Given the description of an element on the screen output the (x, y) to click on. 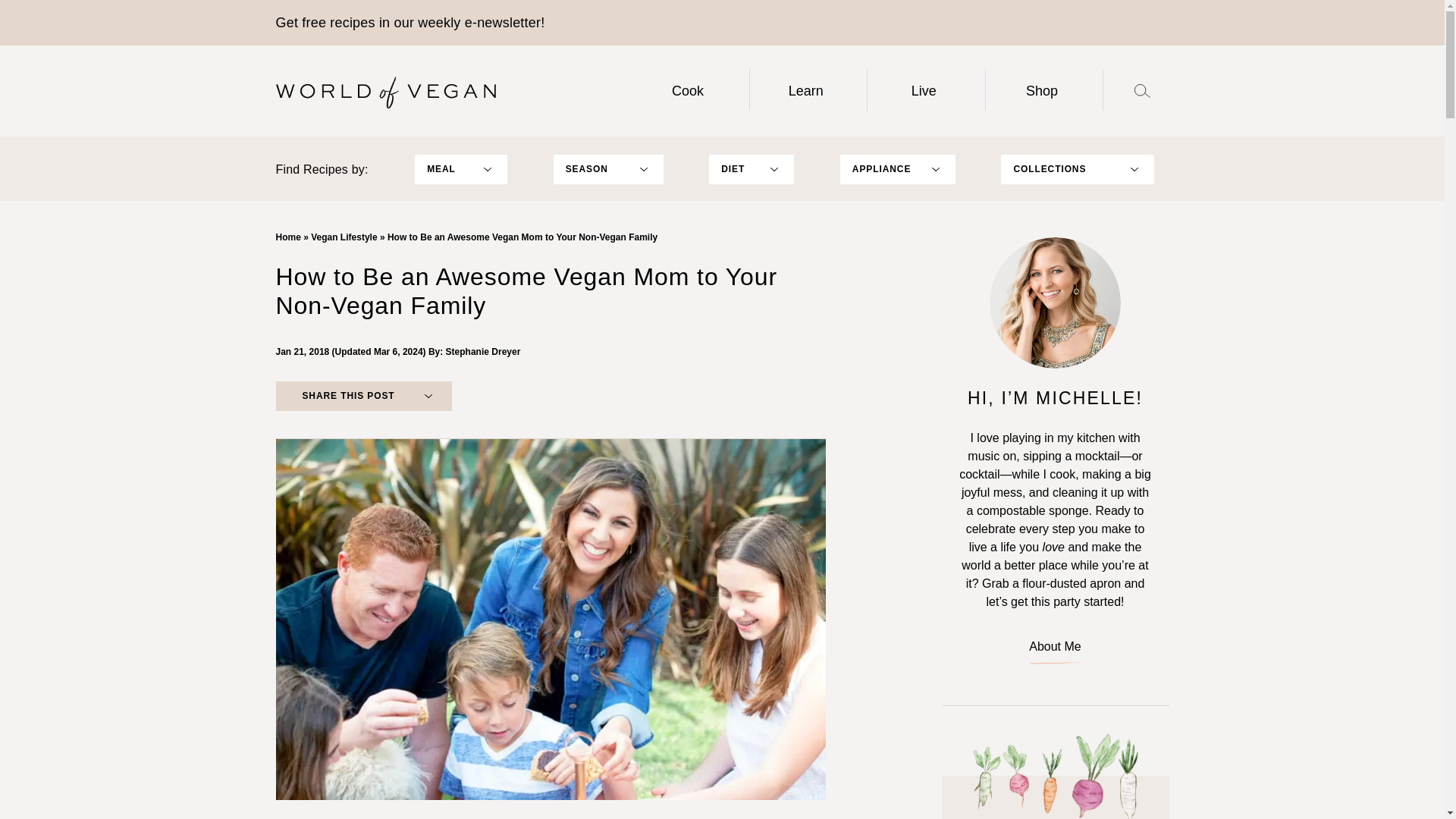
Stephanie Dreyer (483, 351)
weekly e-newsletter (478, 22)
